Given the description of an element on the screen output the (x, y) to click on. 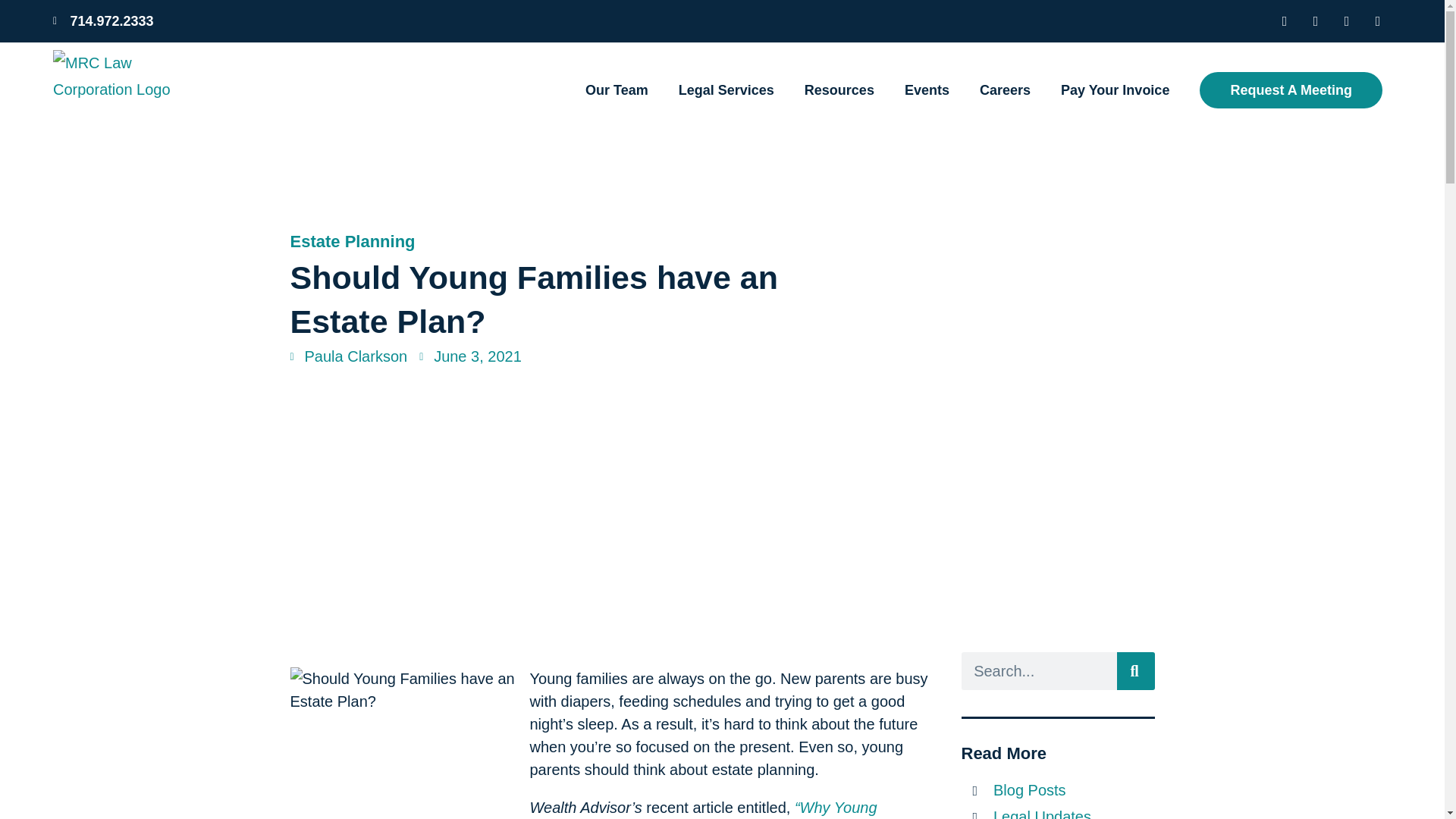
Legal Services (726, 90)
714.972.2333 (383, 21)
Our Team (616, 90)
